Given the description of an element on the screen output the (x, y) to click on. 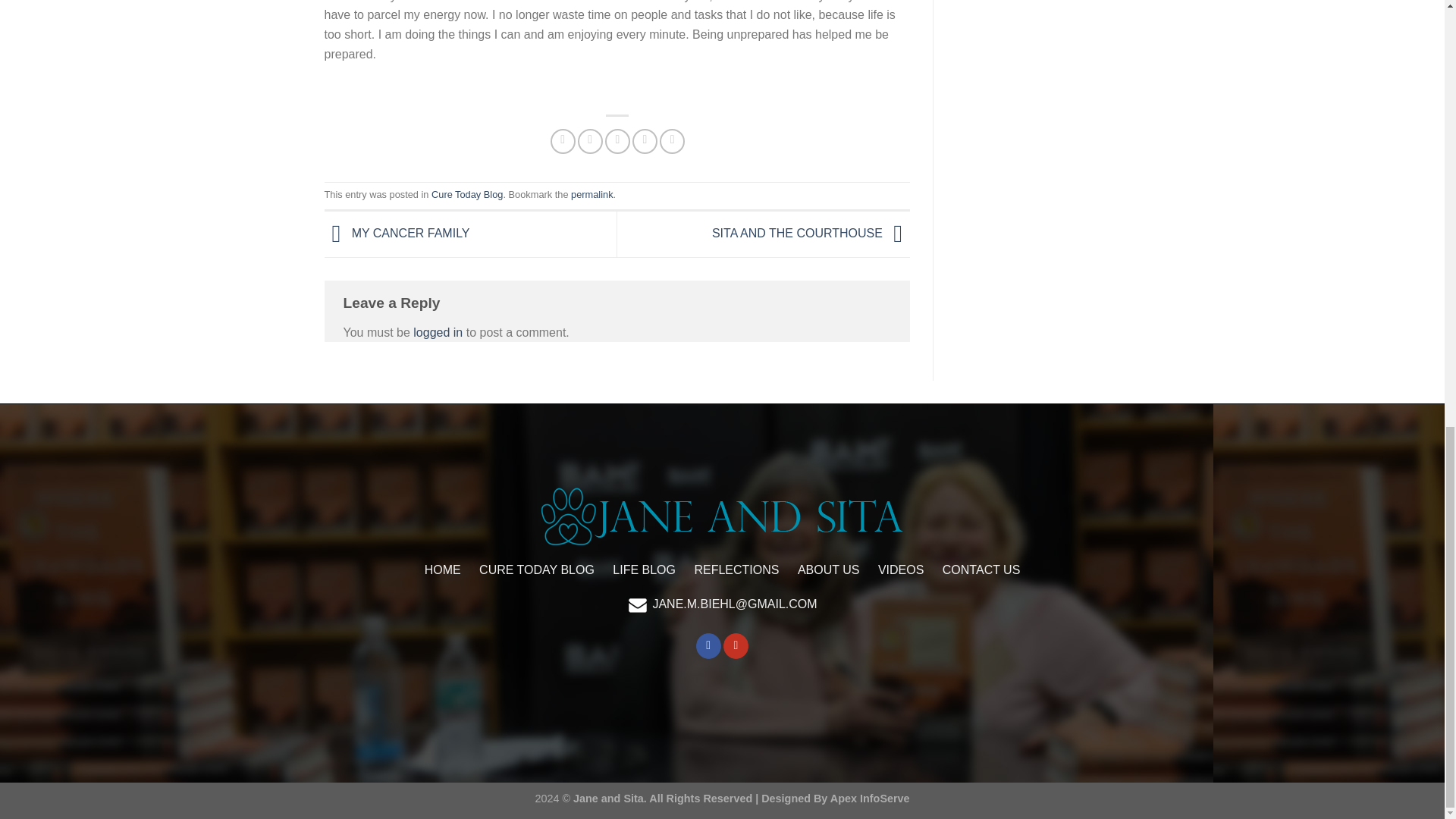
Share on Twitter (590, 140)
Share on LinkedIn (671, 140)
Email to a Friend (617, 140)
Permalink to WHAT NOBODY TOLD ME ABOUT CANCER (591, 194)
Share on Facebook (562, 140)
Pin on Pinterest (644, 140)
